Given the description of an element on the screen output the (x, y) to click on. 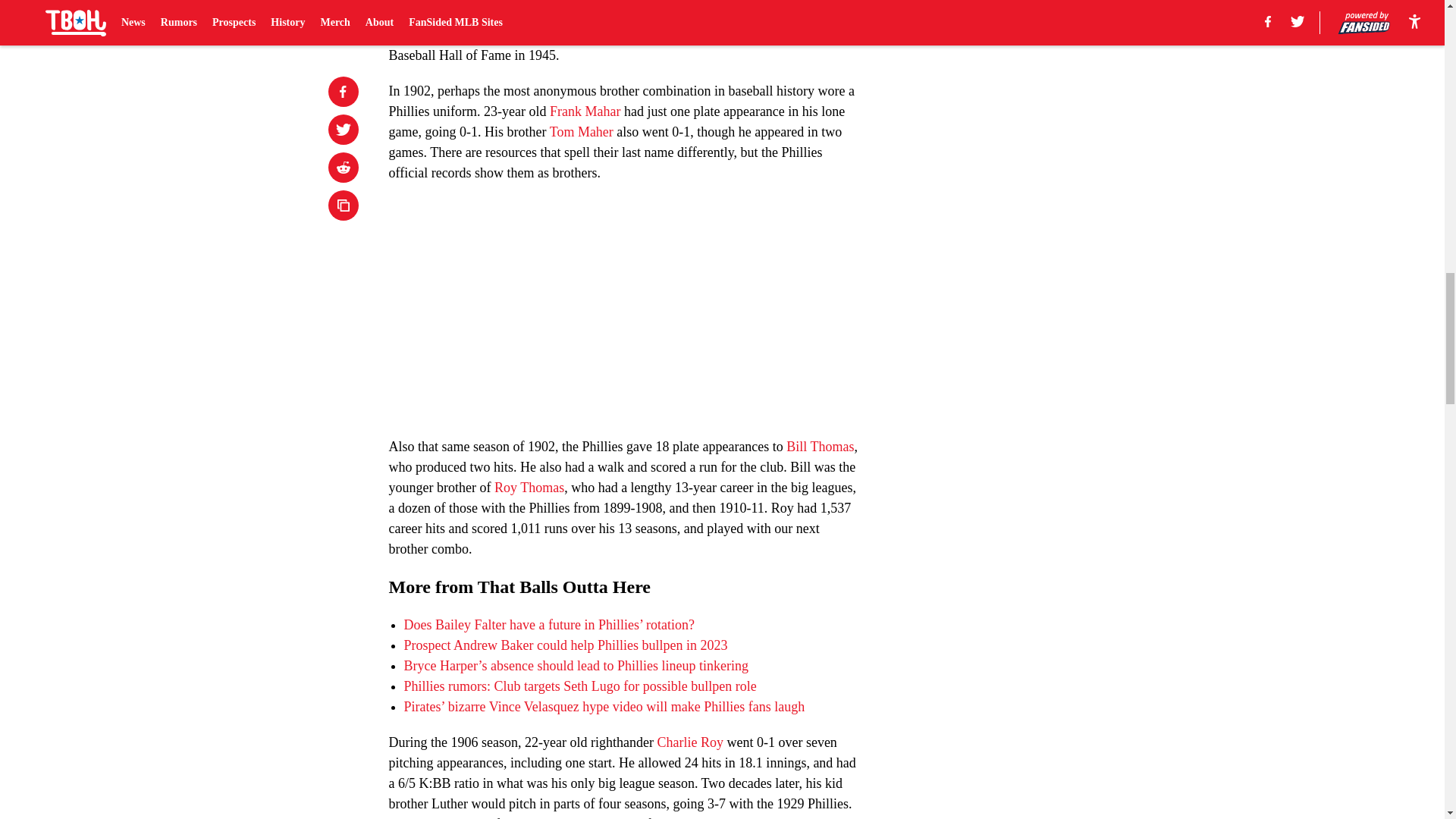
Charlie Roy (689, 742)
Bill Thomas (819, 446)
Prospect Andrew Baker could help Phillies bullpen in 2023 (564, 645)
Tom Maher (581, 131)
Roy Thomas (529, 487)
Frank Mahar (585, 111)
a dozen Phillies to amass over 1,500 hits (619, 24)
